Given the description of an element on the screen output the (x, y) to click on. 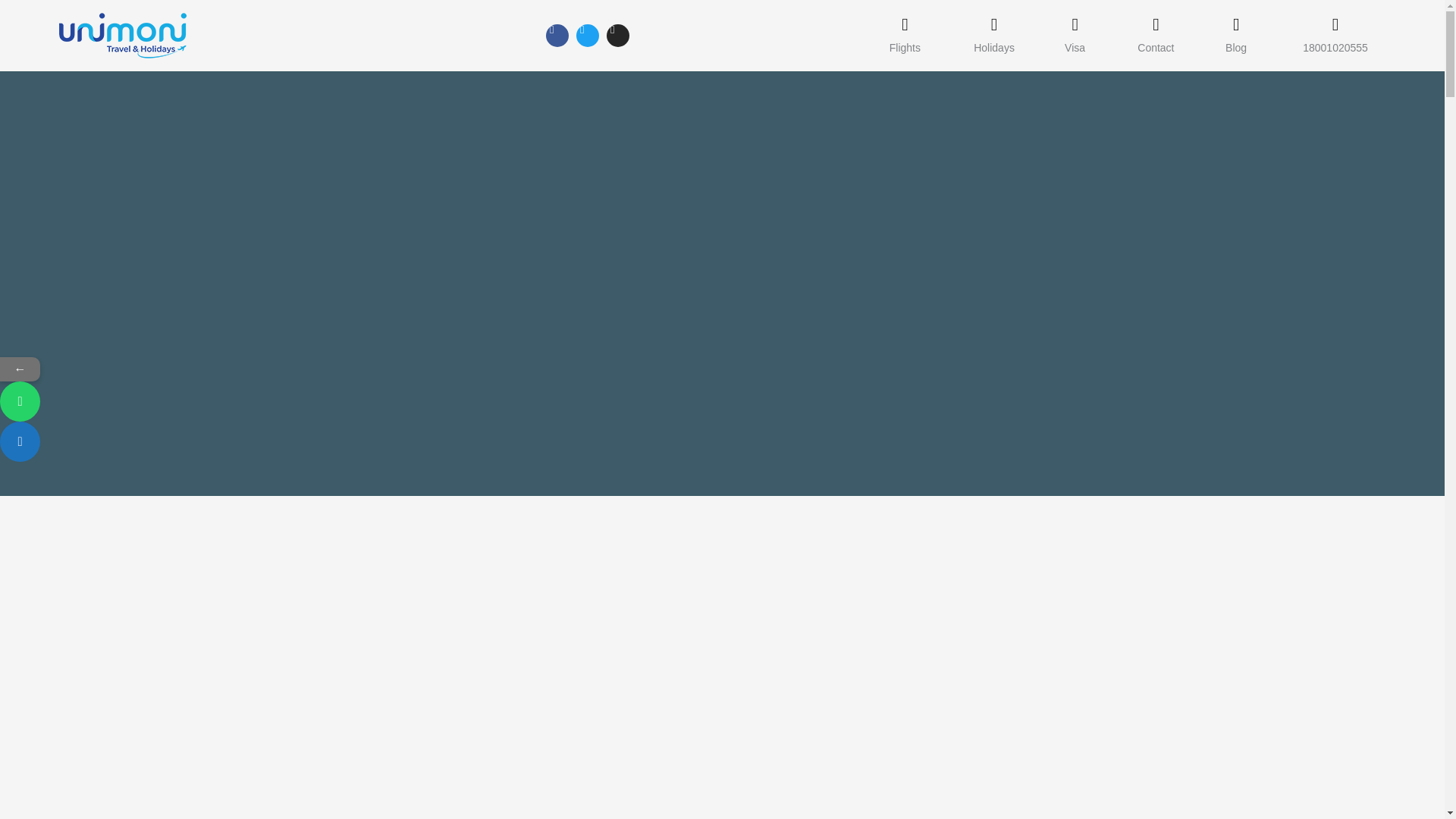
Call Now (20, 441)
WhatsApp Now (20, 401)
Instagram (617, 35)
WhatsApp Now (92, 401)
Twitter (587, 35)
Call Now (92, 441)
Facebook (557, 35)
